Given the description of an element on the screen output the (x, y) to click on. 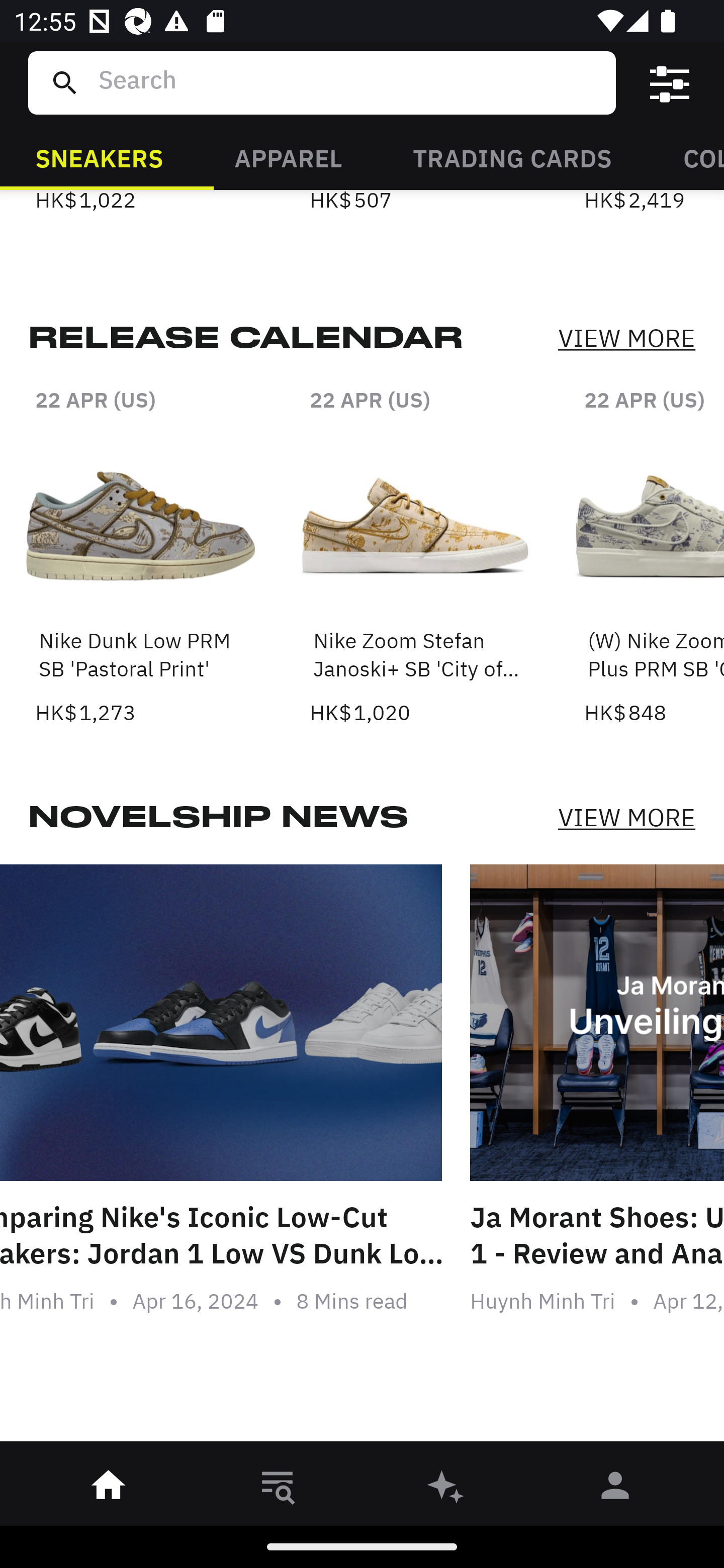
Search (349, 82)
 (669, 82)
SNEAKERS (99, 156)
APPAREL (287, 156)
TRADING CARDS (512, 156)
VIEW MORE (626, 338)
VIEW MORE (626, 816)
󰋜 (108, 1488)
󱎸 (277, 1488)
󰫢 (446, 1488)
󰀄 (615, 1488)
